Given the description of an element on the screen output the (x, y) to click on. 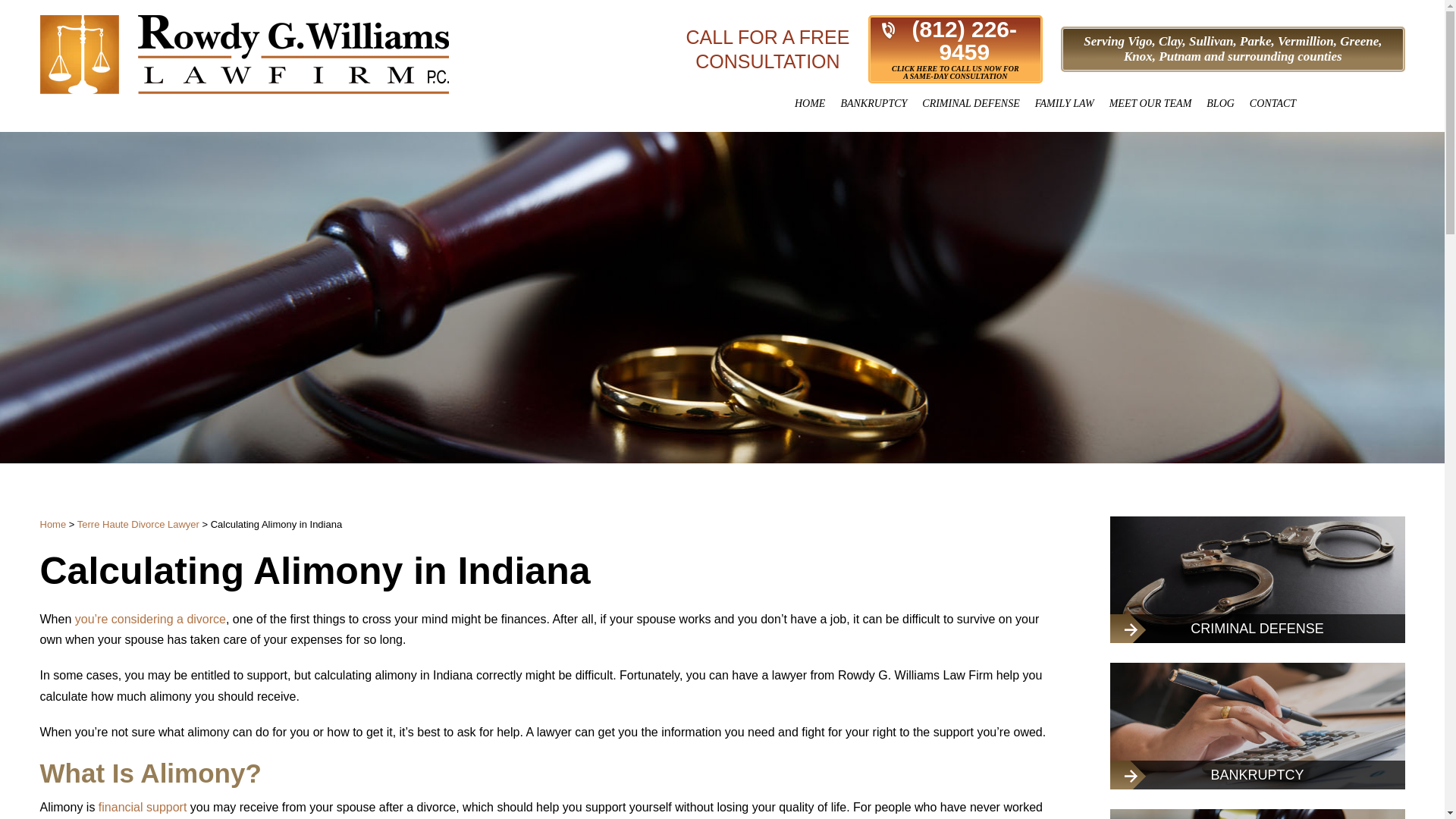
BANKRUPTCY (873, 103)
CRIMINAL DEFENSE (970, 103)
HOME (809, 103)
